Given the description of an element on the screen output the (x, y) to click on. 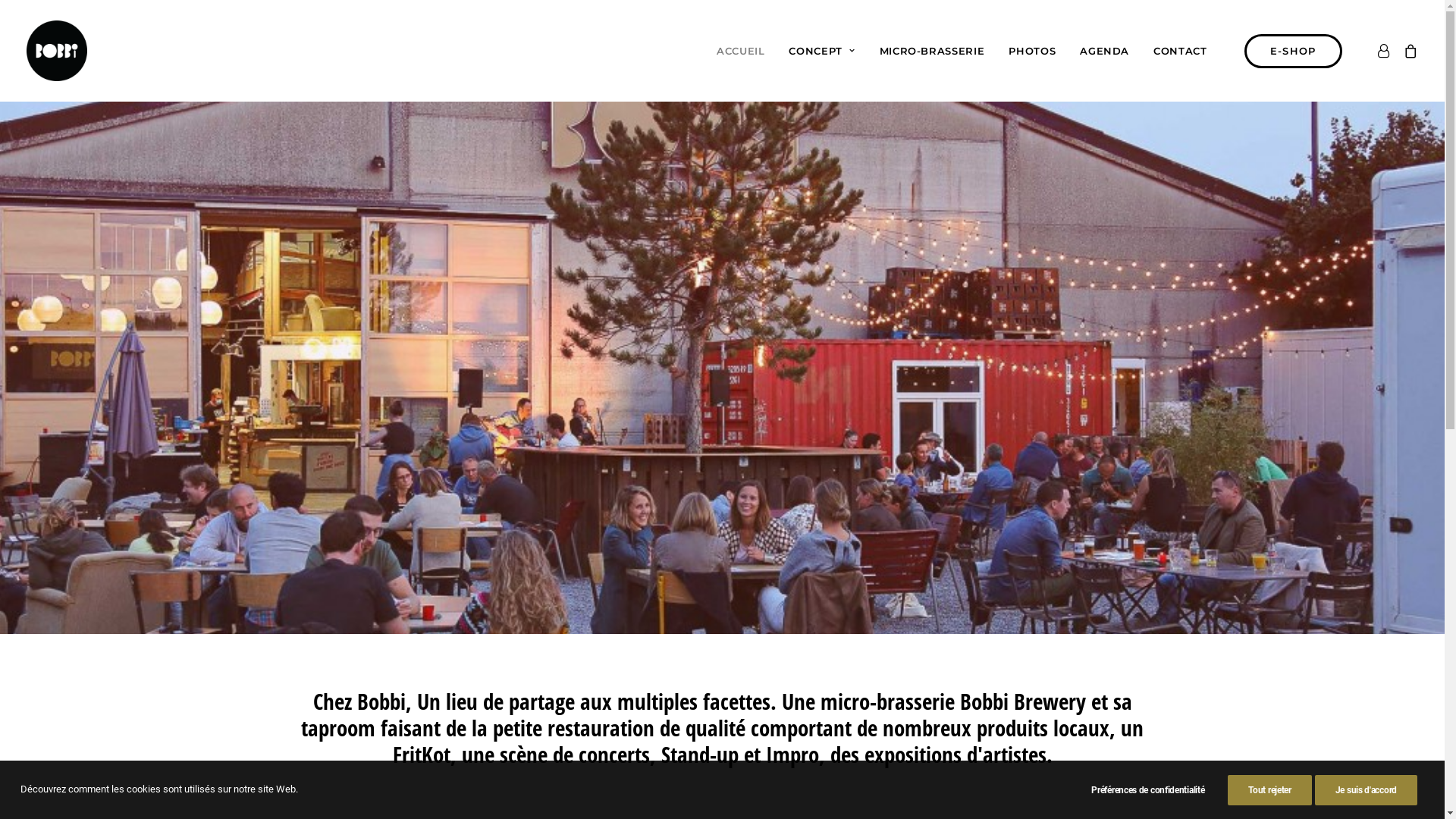
MICRO-BRASSERIE Element type: text (932, 50)
PHOTOS Element type: text (1031, 50)
account Element type: hover (1385, 50)
Tout rejeter Element type: text (1269, 790)
cart Element type: hover (1407, 50)
CONTACT Element type: text (1174, 50)
Je suis d'accord Element type: text (1365, 790)
CONCEPT Element type: text (821, 50)
ACCUEIL Element type: text (740, 50)
E-SHOP Element type: text (1296, 50)
AGENDA Element type: text (1104, 50)
